Given the description of an element on the screen output the (x, y) to click on. 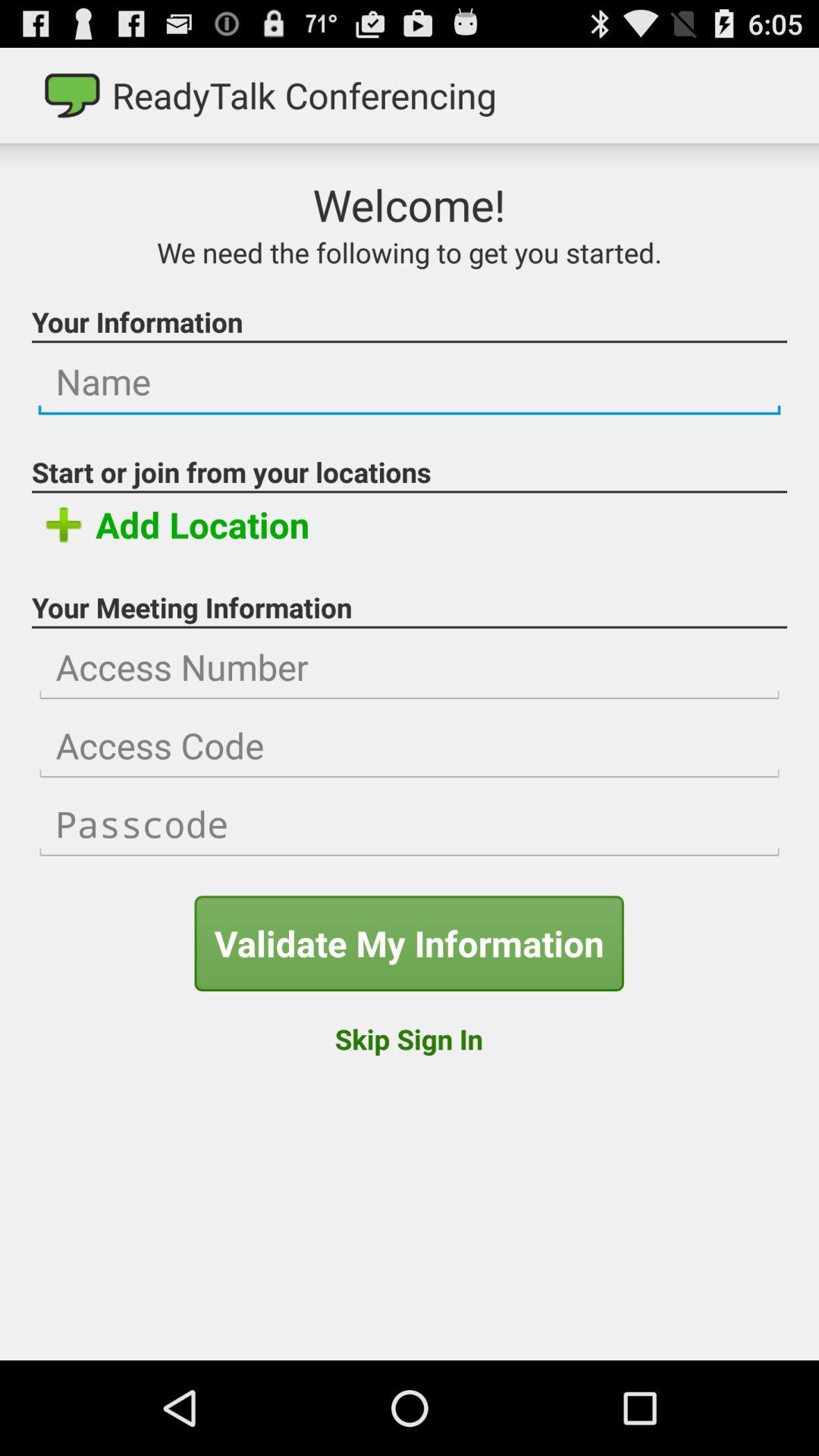
insert name (409, 381)
